Given the description of an element on the screen output the (x, y) to click on. 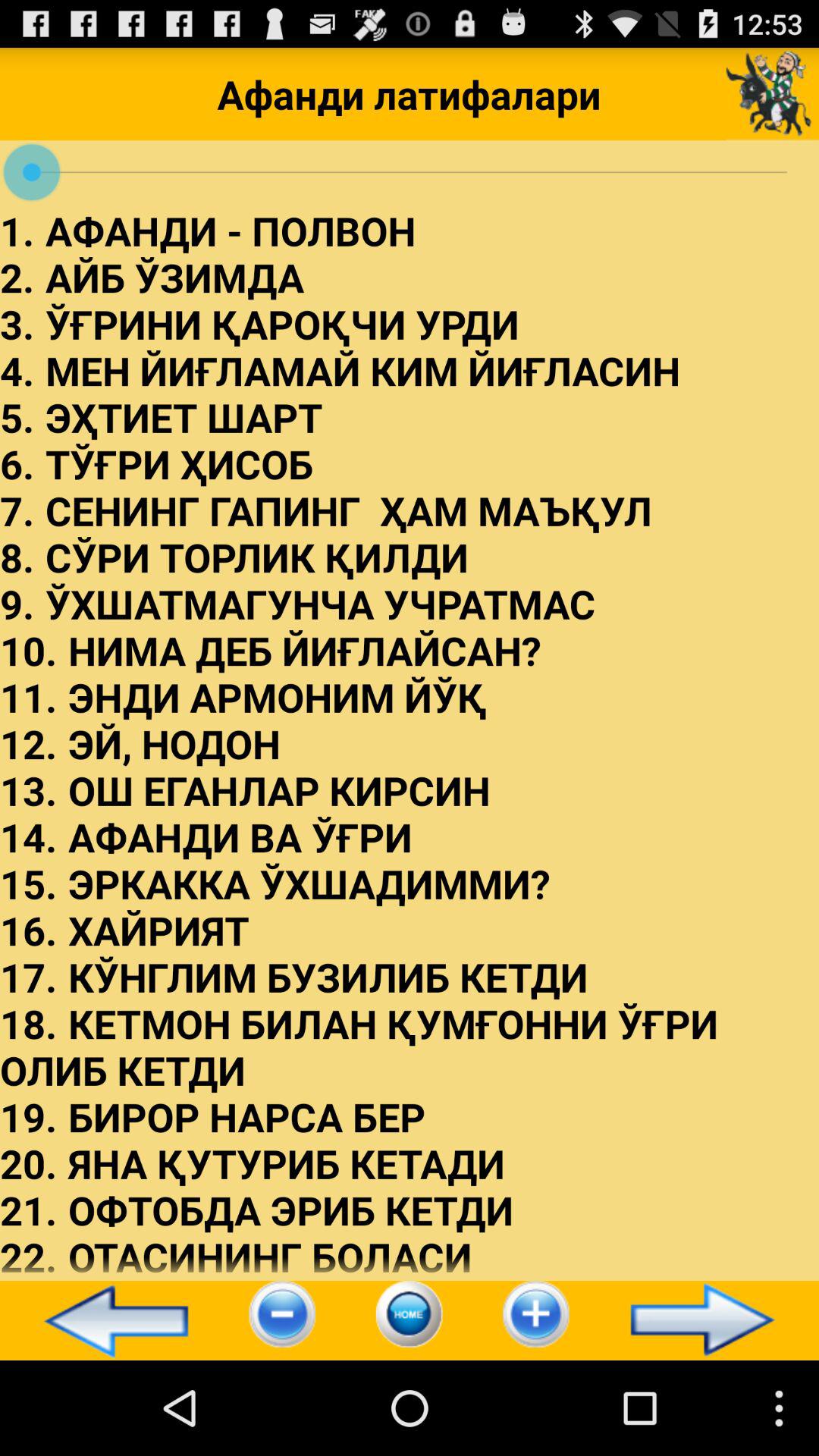
select the icon at the bottom left corner (109, 1320)
